Given the description of an element on the screen output the (x, y) to click on. 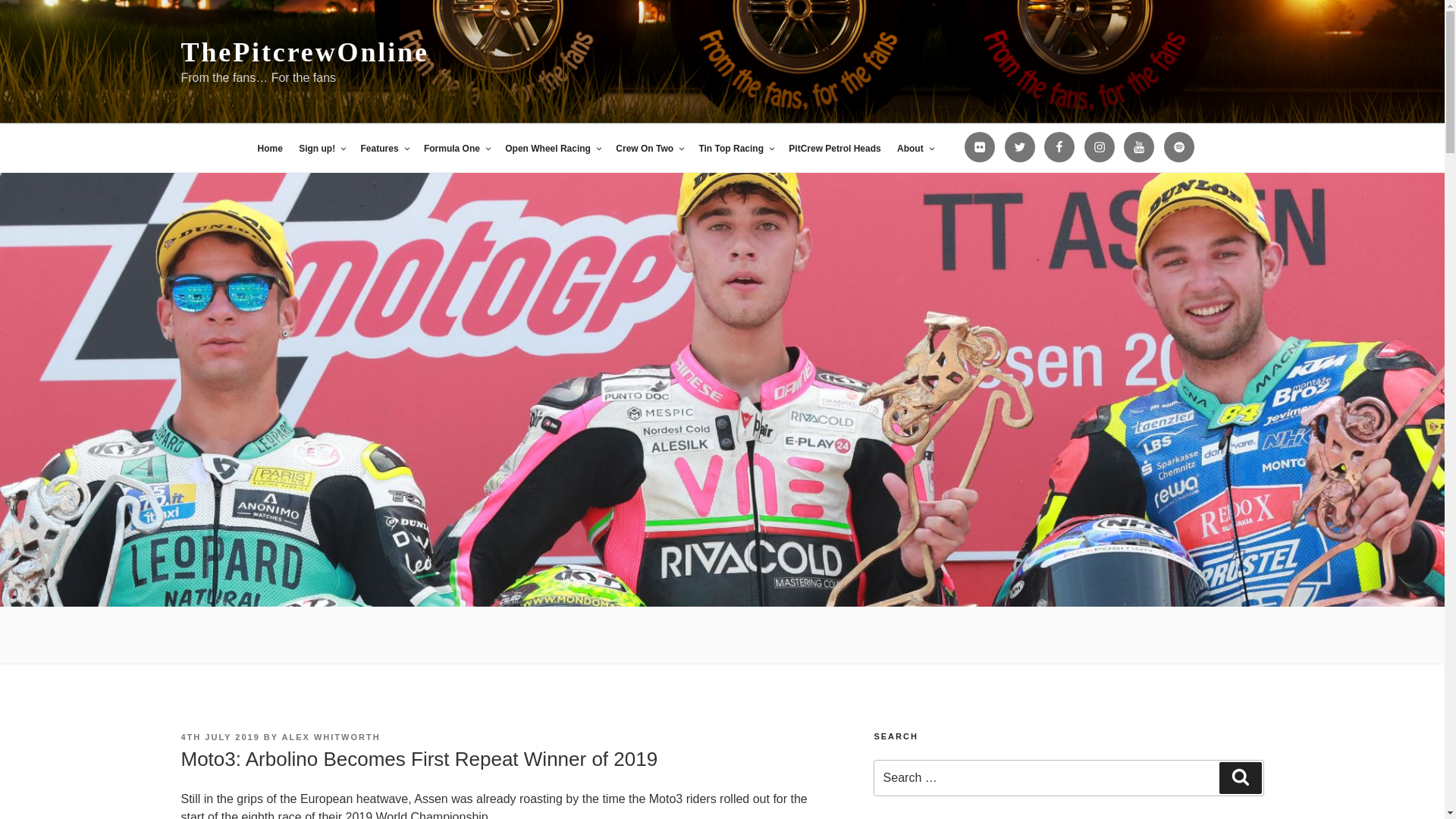
Home (269, 148)
Open Wheel Racing (552, 148)
Sign up! (321, 148)
Features (383, 148)
ThePitcrewOnline (304, 51)
Formula One (456, 148)
